Given the description of an element on the screen output the (x, y) to click on. 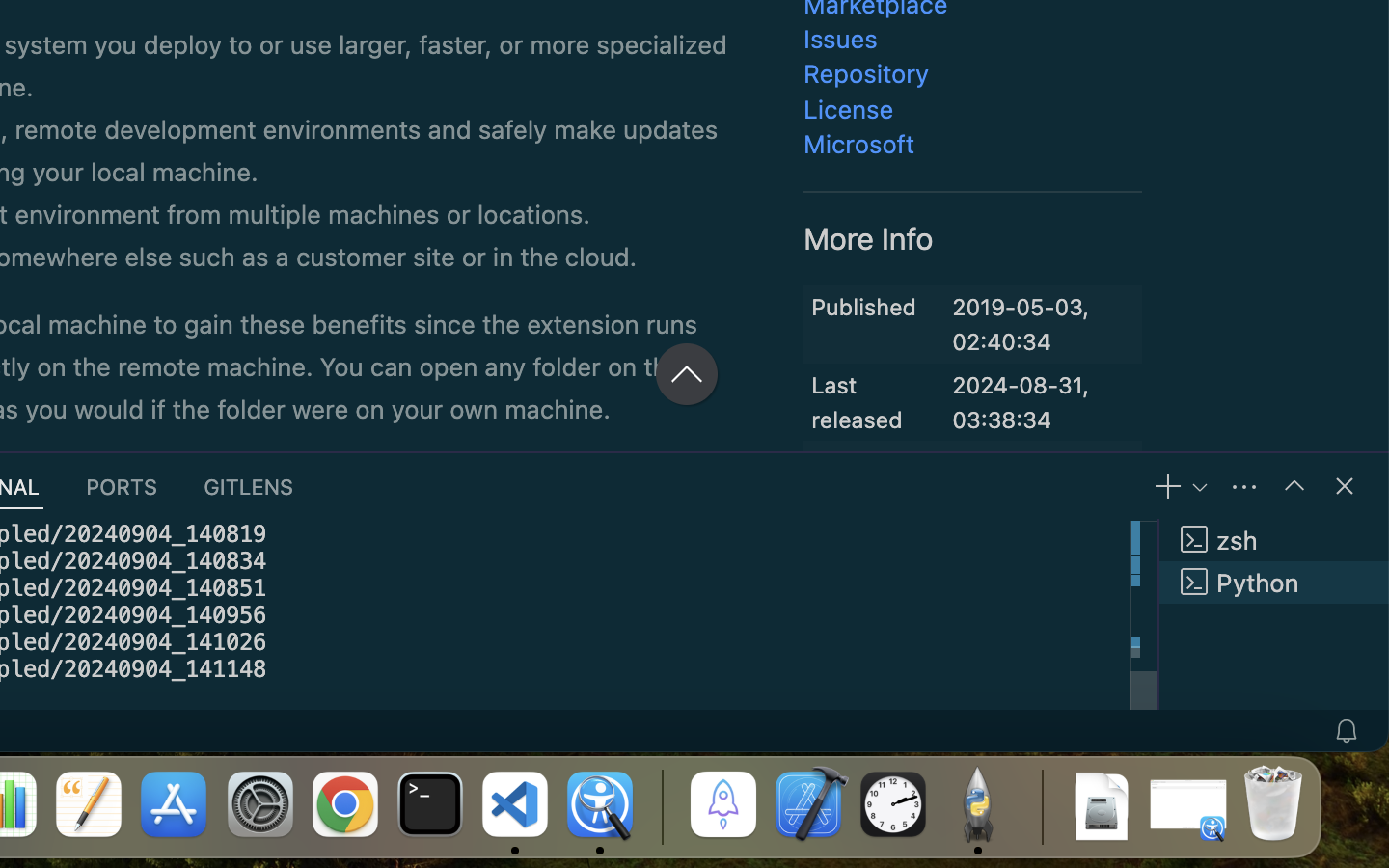
0 PORTS Element type: AXRadioButton (122, 485)
